Given the description of an element on the screen output the (x, y) to click on. 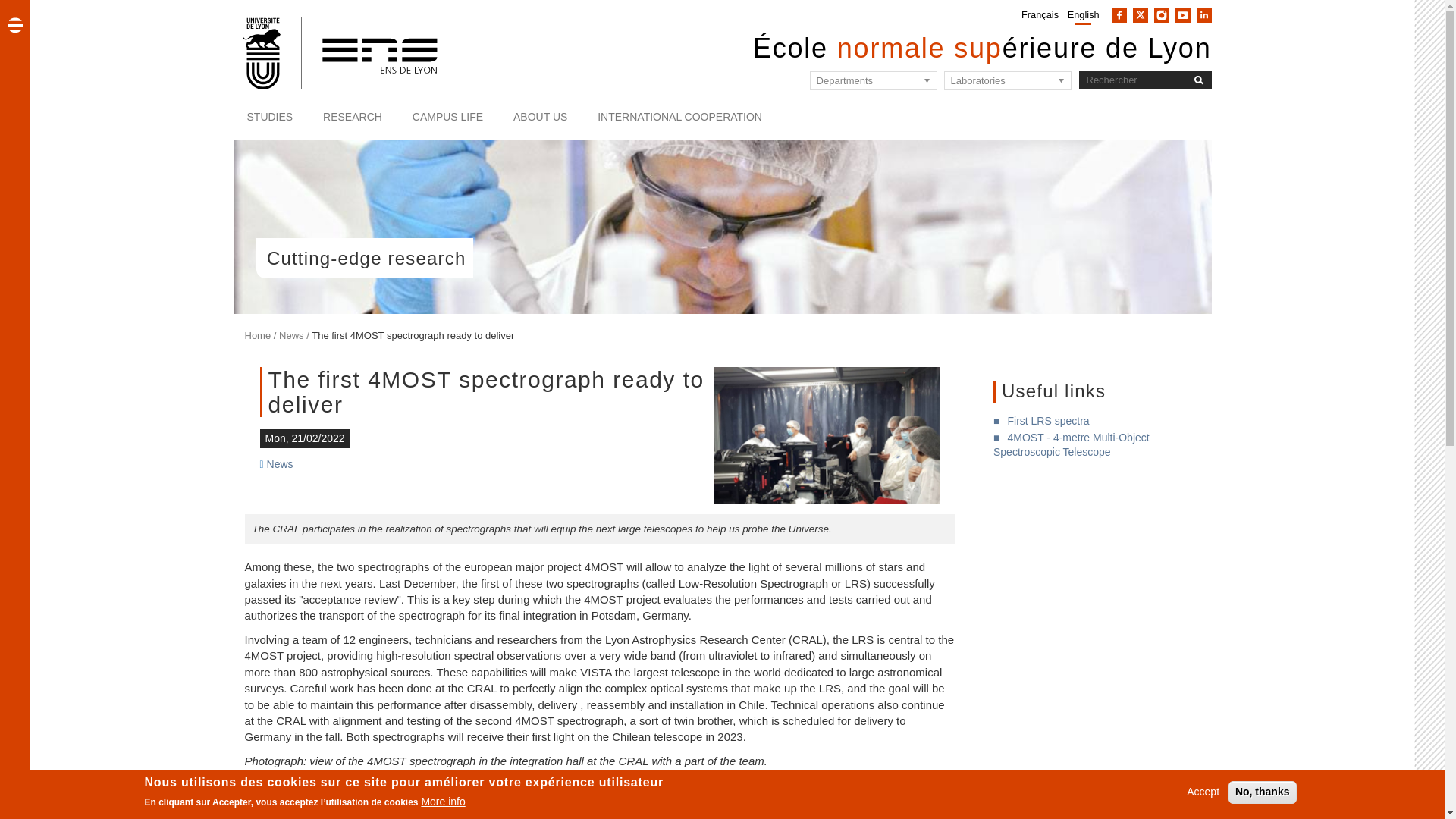
English (1083, 14)
Rechercher (1198, 79)
Home (340, 52)
Rechercher (1198, 79)
